Given the description of an element on the screen output the (x, y) to click on. 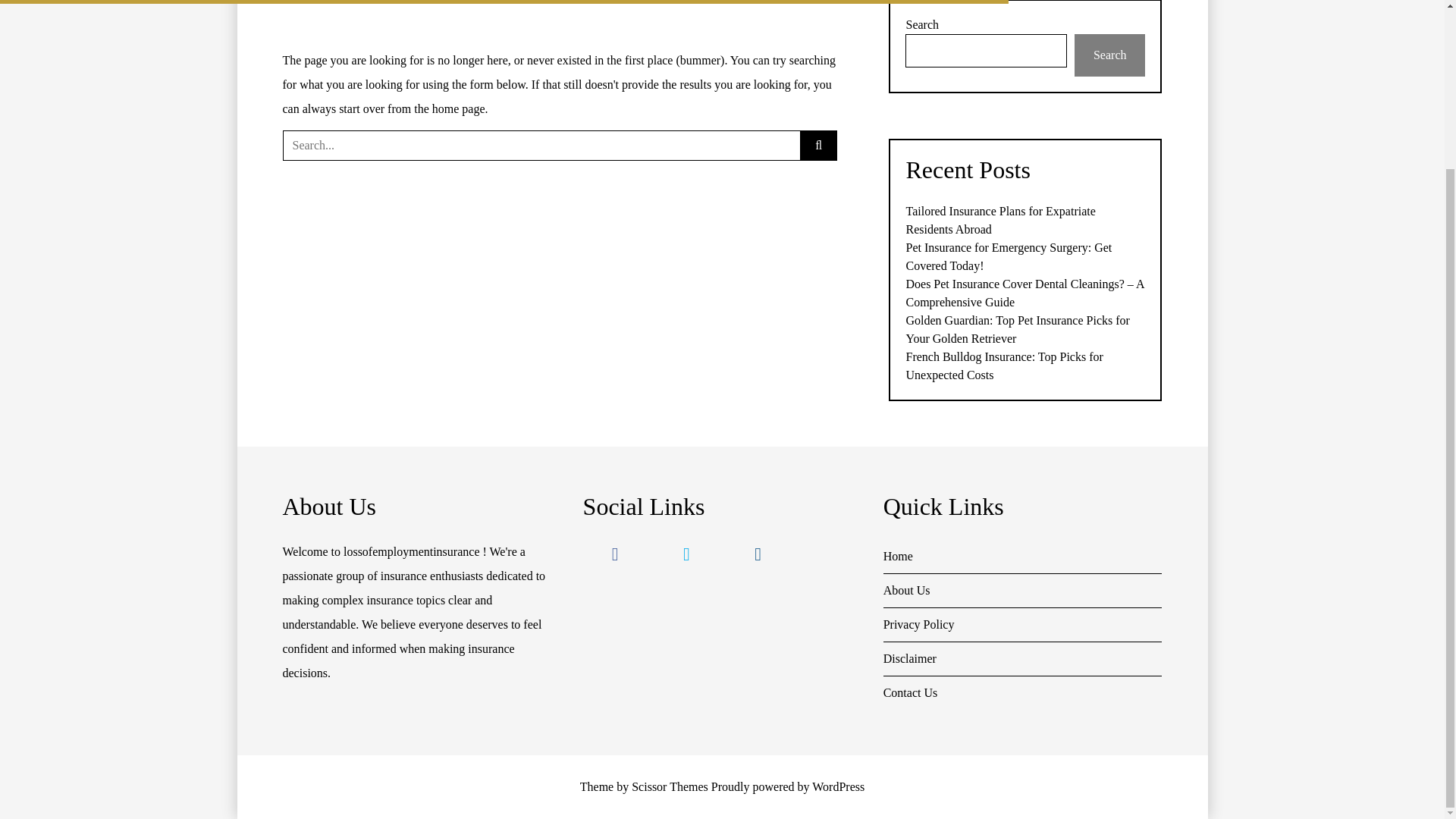
Pet Insurance for Emergency Surgery: Get Covered Today! (1008, 255)
Search (1109, 55)
French Bulldog Insurance: Top Picks for Unexpected Costs (1003, 365)
WordPress (838, 786)
Scissor Themes (669, 786)
Home (1022, 556)
Contact Us (1022, 693)
About Us (1022, 591)
Tailored Insurance Plans for Expatriate Residents Abroad (999, 219)
Disclaimer (1022, 659)
Privacy Policy (1022, 625)
